Given the description of an element on the screen output the (x, y) to click on. 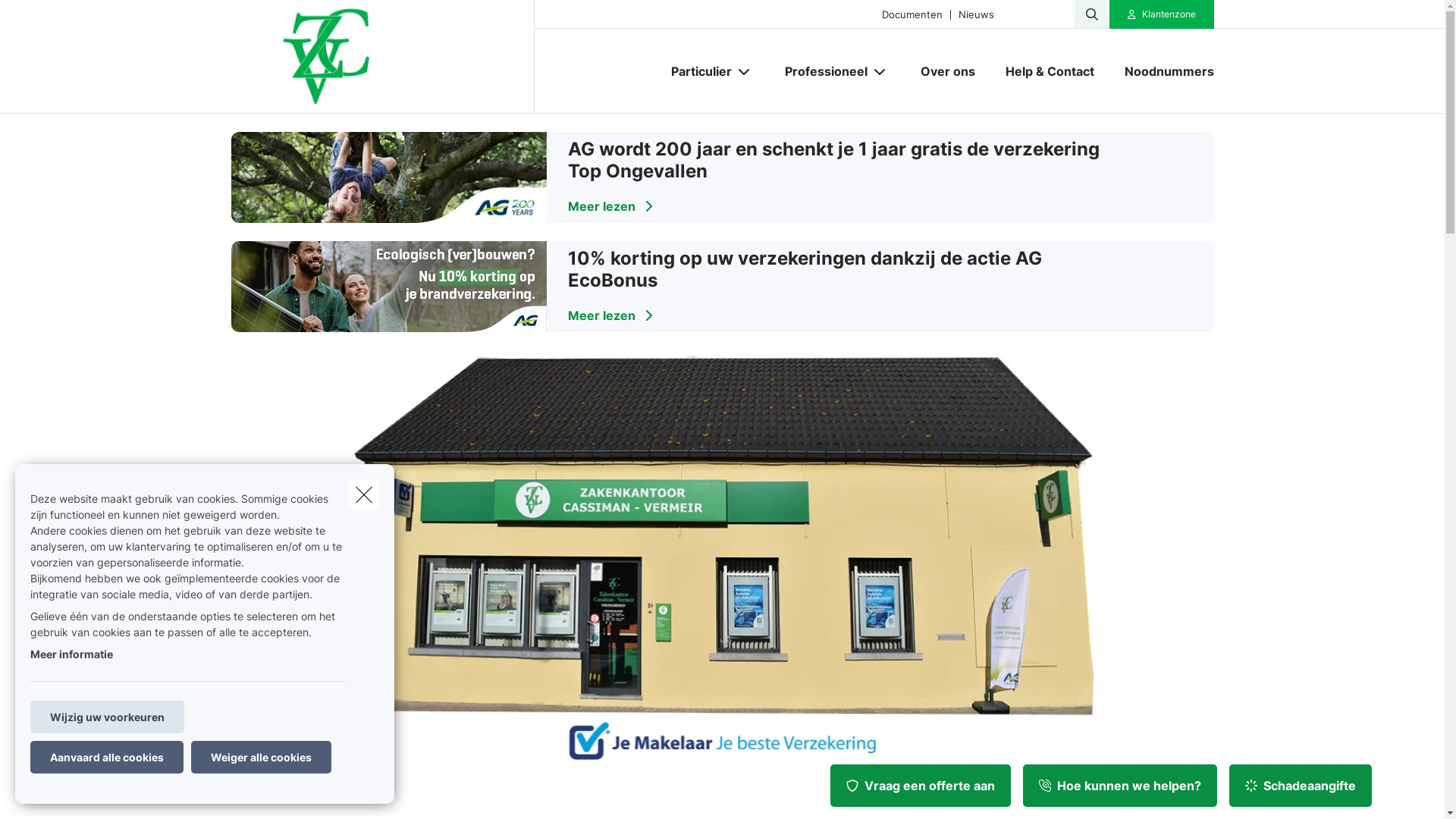
Vraag een offerte aan Element type: text (920, 785)
Hoe kunnen we helpen? Element type: text (1119, 785)
Meer lezen Element type: text (609, 315)
Nieuws Element type: text (975, 13)
Noodnummers Element type: text (1160, 70)
Klantenzone Element type: text (1161, 14)
Particulier Element type: text (694, 70)
Help & Contact Element type: text (1049, 70)
Meer lezen Element type: text (609, 205)
Weiger alle cookies Element type: text (261, 756)
Zoeken Element type: text (42, 18)
Schadeaangifte Element type: text (1300, 785)
Wijzig uw voorkeuren Element type: text (107, 716)
Aanvaard alle cookies Element type: text (106, 756)
Professioneel Element type: text (819, 70)
Meer informatie Element type: text (71, 653)
Over ons Element type: text (947, 70)
Documenten Element type: text (912, 13)
